Given the description of an element on the screen output the (x, y) to click on. 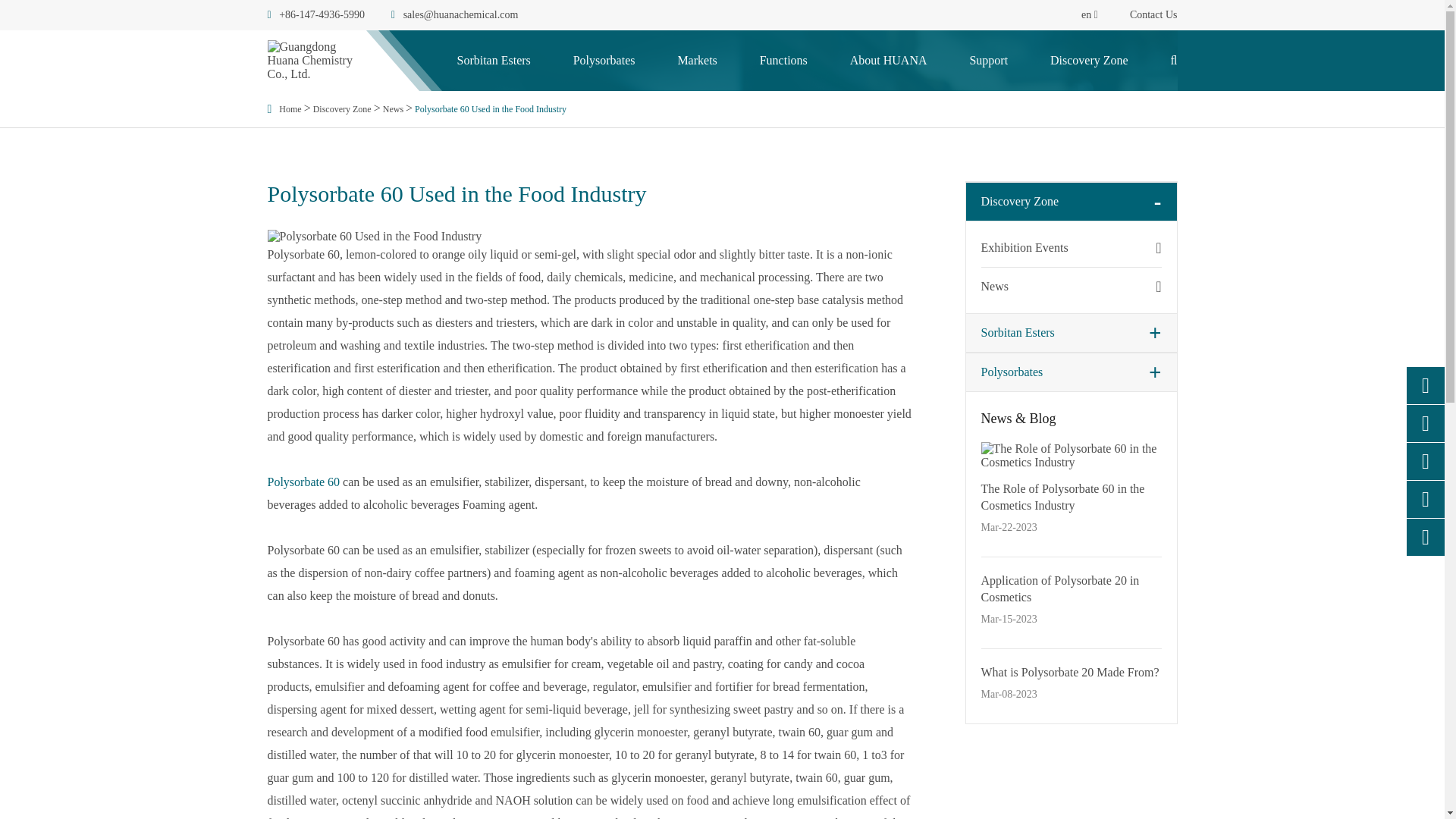
Polysorbate 60 Used in the Food Industry (490, 108)
News (392, 108)
Sorbitan Esters (493, 60)
Contact Us (1153, 15)
Discovery Zone (342, 108)
Polysorbates (603, 60)
